Given the description of an element on the screen output the (x, y) to click on. 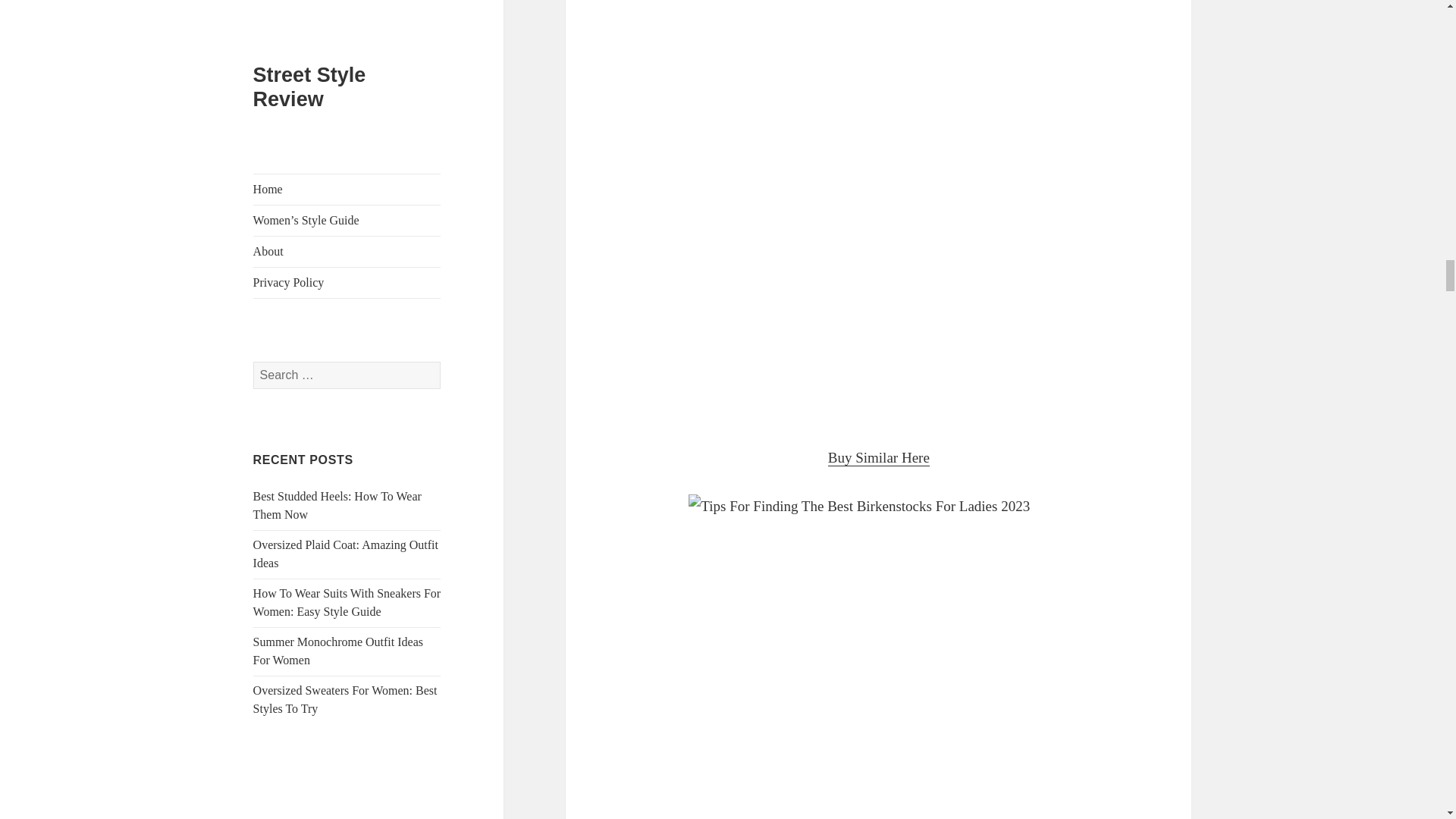
Tips For Finding The Best Birkenstocks For Ladies 2023 (878, 656)
Buy Similar Here (879, 457)
